Given the description of an element on the screen output the (x, y) to click on. 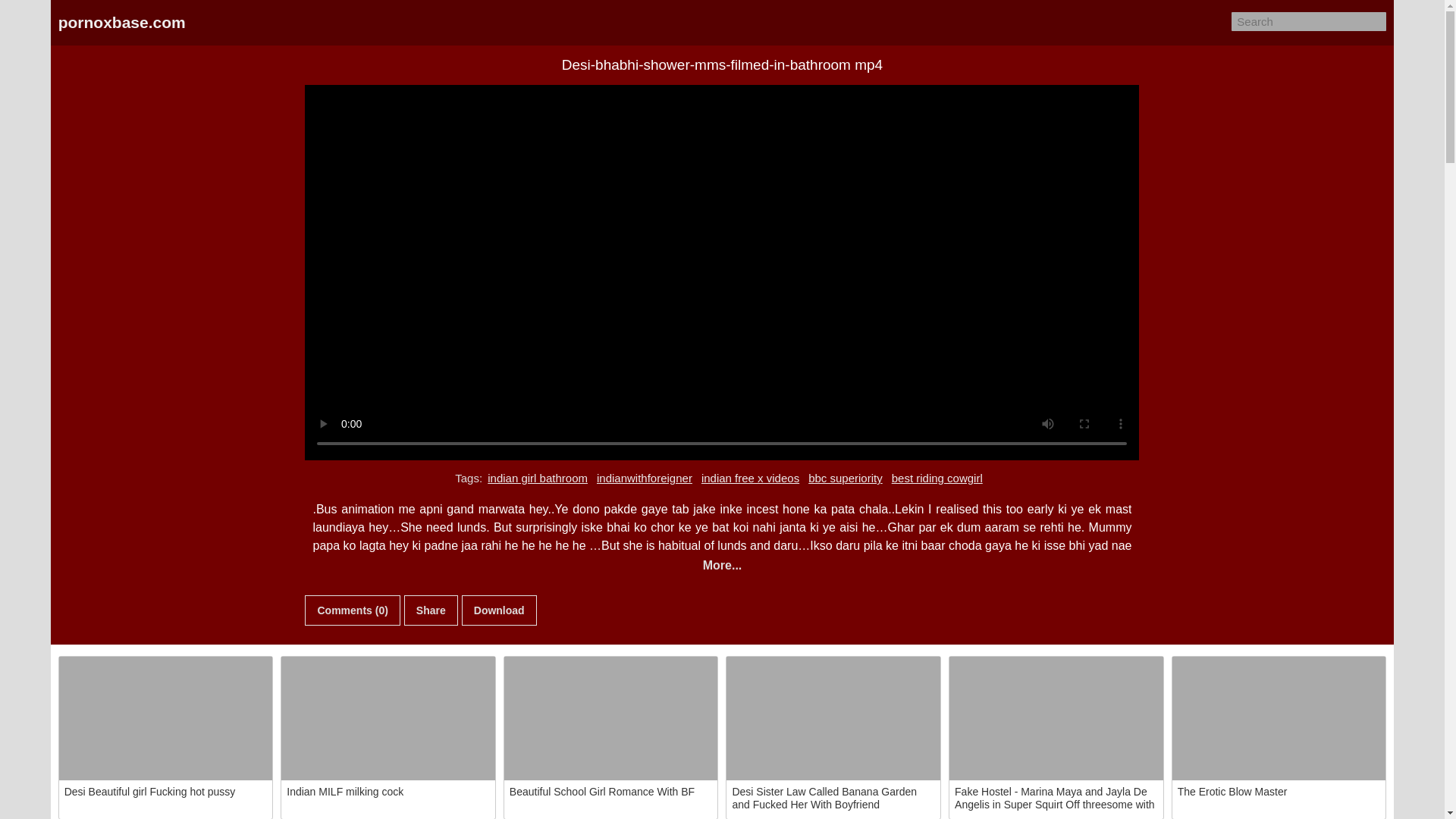
pornoxbase.com (122, 22)
bbc superiority (845, 478)
Indian MILF milking cock (388, 718)
The Erotic Blow Master (1279, 718)
Desi Beautiful girl Fucking hot pussy (166, 718)
Download (499, 610)
Share (431, 610)
best riding cowgirl (937, 478)
